Given the description of an element on the screen output the (x, y) to click on. 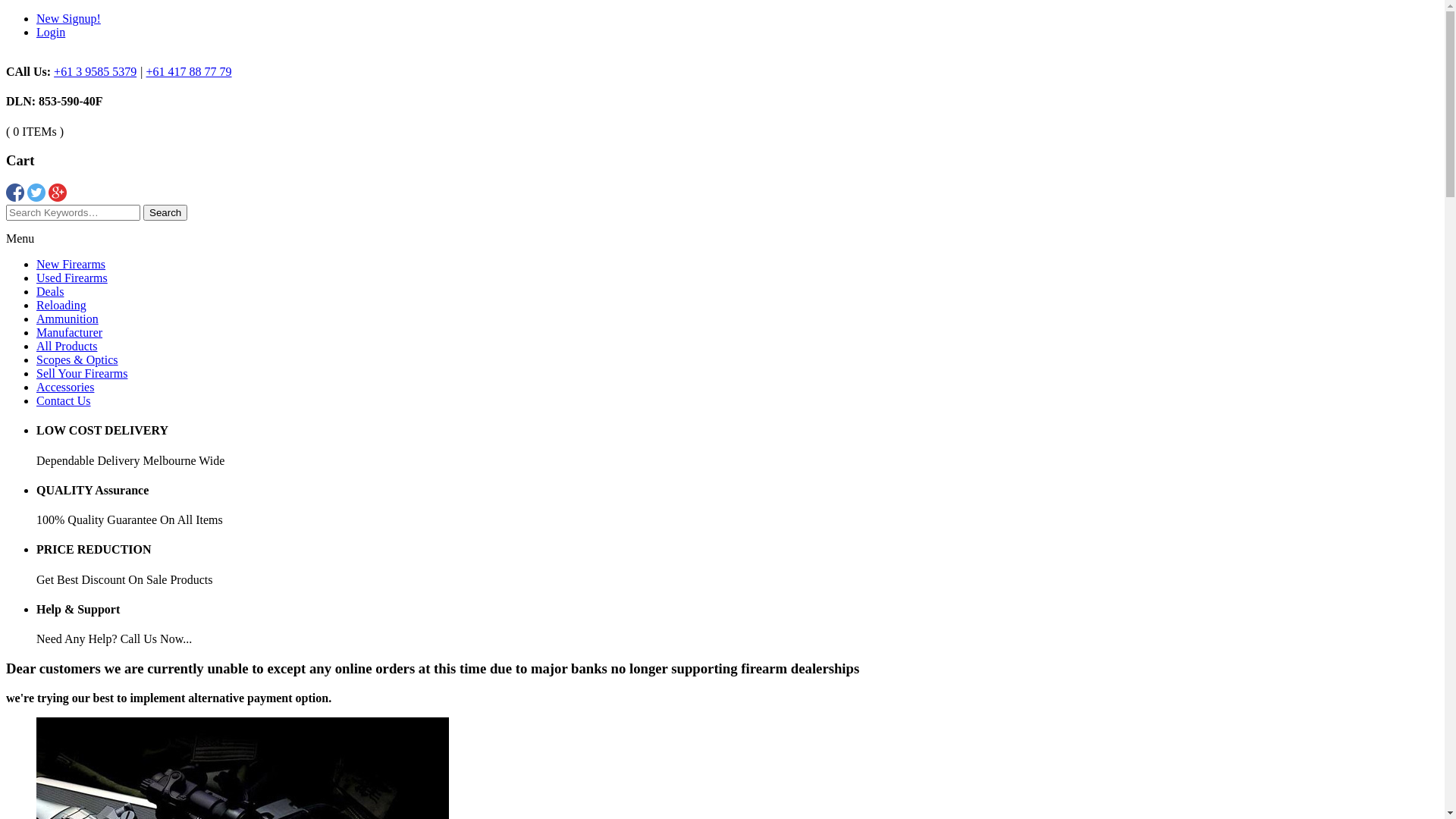
Search for: Element type: hover (73, 212)
Login Element type: text (50, 31)
Twitter Element type: hover (36, 197)
Accessories Element type: text (65, 386)
+61 417 88 77 79 Element type: text (189, 71)
Google Plus Element type: hover (57, 197)
All Products Element type: text (66, 345)
+61 3 9585 5379 Element type: text (94, 71)
Scopes & Optics Element type: text (77, 359)
Contact Us Element type: text (63, 400)
New Signup! Element type: text (68, 18)
Reloading Element type: text (61, 304)
Facebook Element type: hover (15, 197)
New Firearms Element type: text (70, 263)
Manufacturer Element type: text (69, 332)
Sell Your Firearms Element type: text (81, 373)
Used Firearms Element type: text (71, 277)
Ammunition Element type: text (67, 318)
Search Element type: text (165, 212)
Deals Element type: text (49, 291)
